Given the description of an element on the screen output the (x, y) to click on. 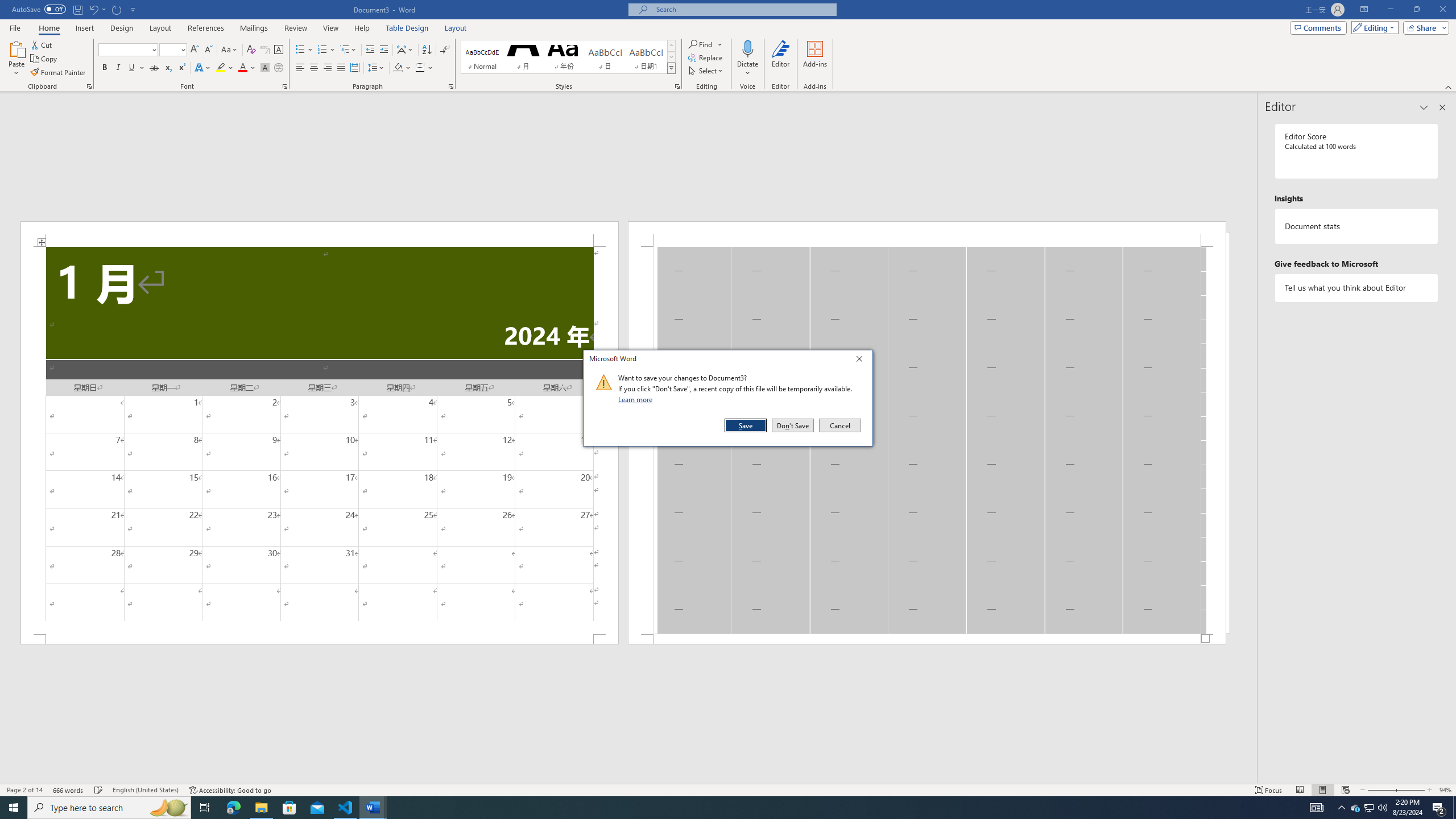
Running applications (717, 807)
Tell us what you think about Editor (1356, 288)
